Given the description of an element on the screen output the (x, y) to click on. 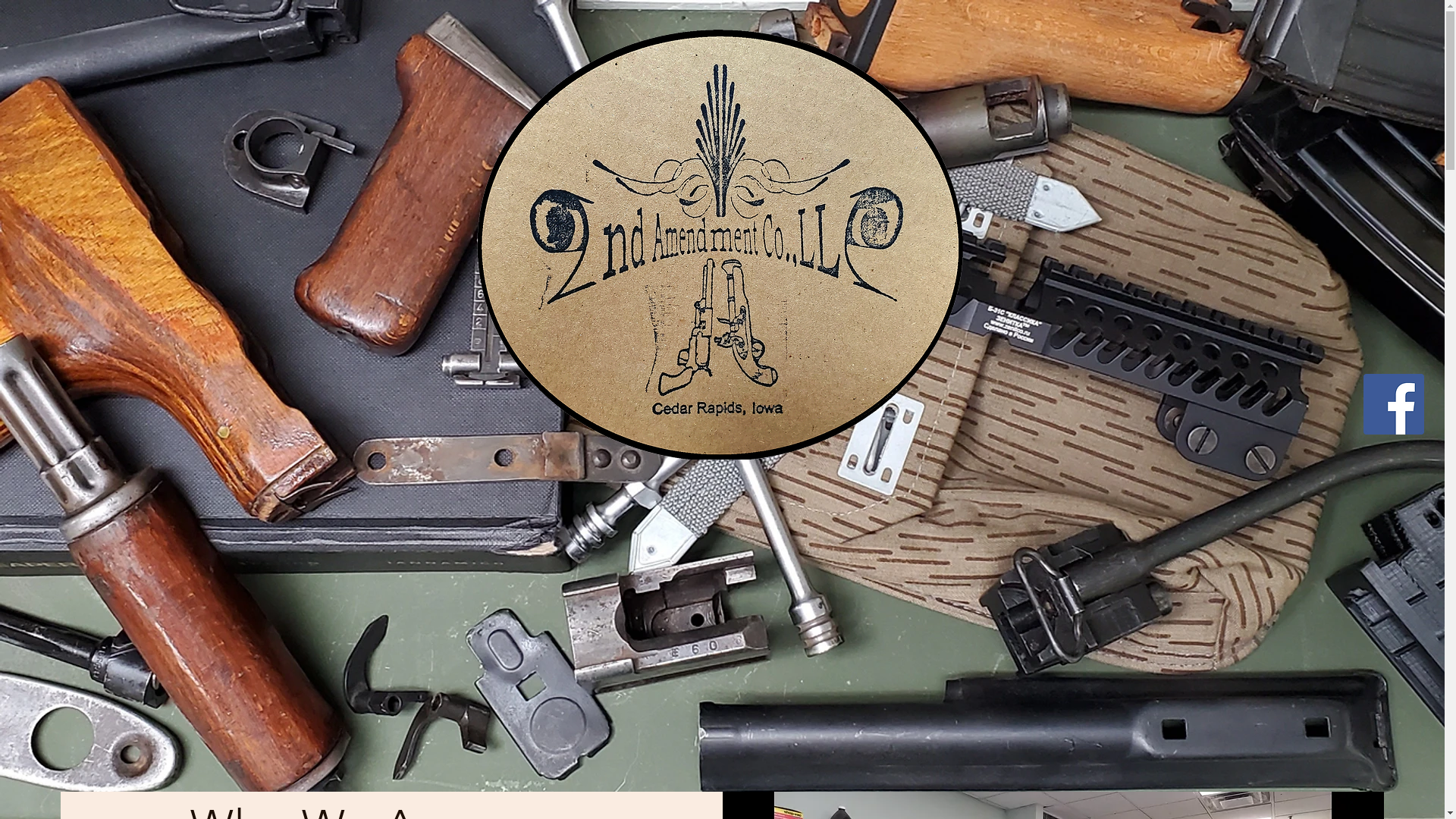
Read More Element type: text (721, 323)
engraved.jpg Element type: hover (717, 238)
